Given the description of an element on the screen output the (x, y) to click on. 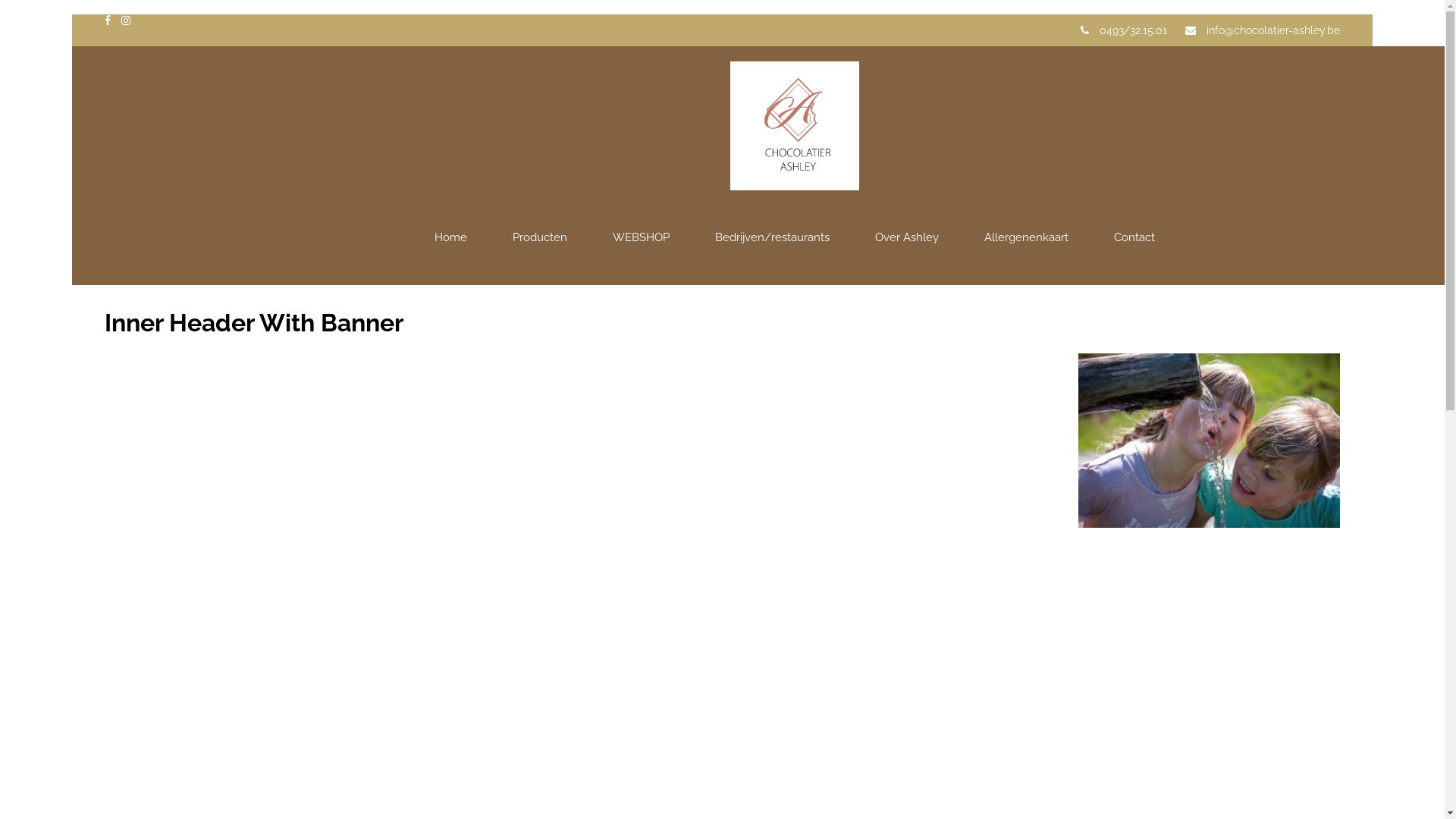
Chocolatier Ashley Element type: hover (794, 53)
facebook Element type: hover (107, 20)
Bedrijven/restaurants Element type: text (772, 237)
Producten Element type: text (539, 237)
WEBSHOP Element type: text (640, 237)
Over Ashley Element type: text (906, 237)
instagram Element type: hover (125, 20)
Contact Element type: text (1134, 237)
Allergenenkaart Element type: text (1026, 237)
info@chocolatier-ashley.be Element type: text (1272, 30)
Home Element type: text (450, 237)
